Given the description of an element on the screen output the (x, y) to click on. 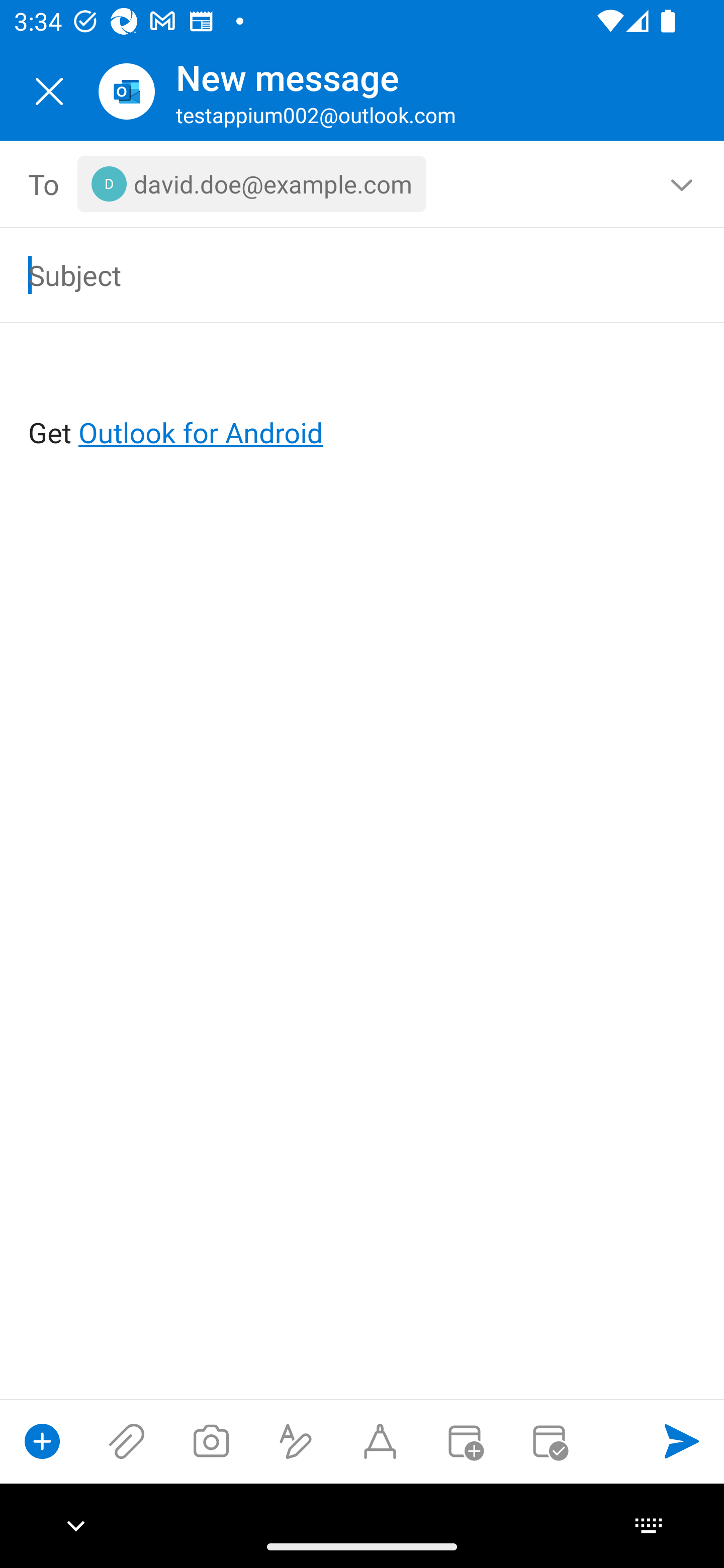
Close (49, 91)
To, 1 recipient <david.doe@example.com> (362, 184)
Subject (333, 274)


Get Outlook for Android (363, 400)
Show compose options (42, 1440)
Attach files (126, 1440)
Take a photo (210, 1440)
Show formatting options (295, 1440)
Start Ink compose (380, 1440)
Convert to event (464, 1440)
Send availability (548, 1440)
Send (681, 1440)
